Given the description of an element on the screen output the (x, y) to click on. 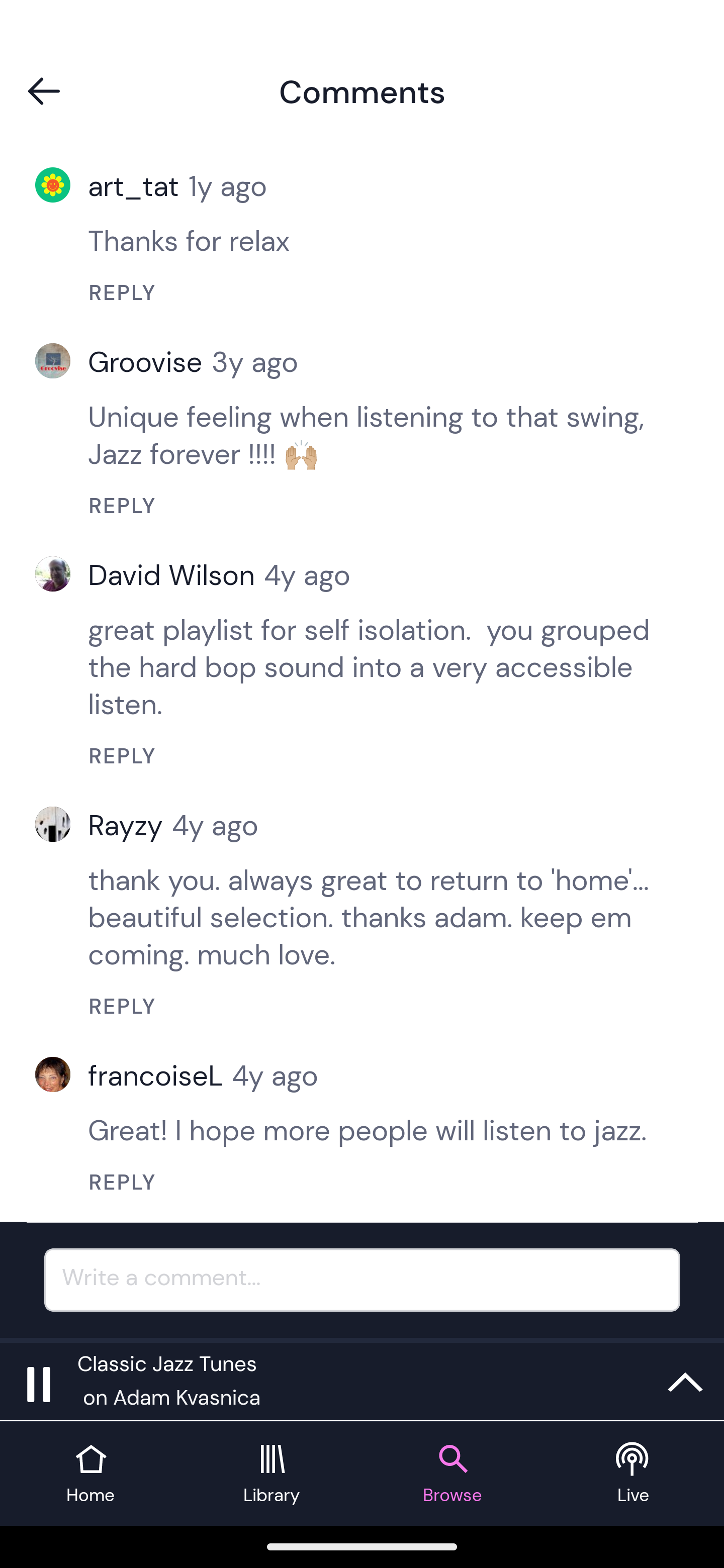
art_tat (138, 185)
REPLY (379, 292)
Groovise (149, 362)
REPLY (379, 504)
David Wilson (176, 575)
REPLY (379, 755)
Rayzy (130, 824)
REPLY (379, 1006)
francoiseL (159, 1075)
REPLY (379, 1181)
Write a comment... (362, 1280)
Home tab Home (90, 1473)
Library tab Library (271, 1473)
Browse tab Browse (452, 1473)
Live tab Live (633, 1473)
